Given the description of an element on the screen output the (x, y) to click on. 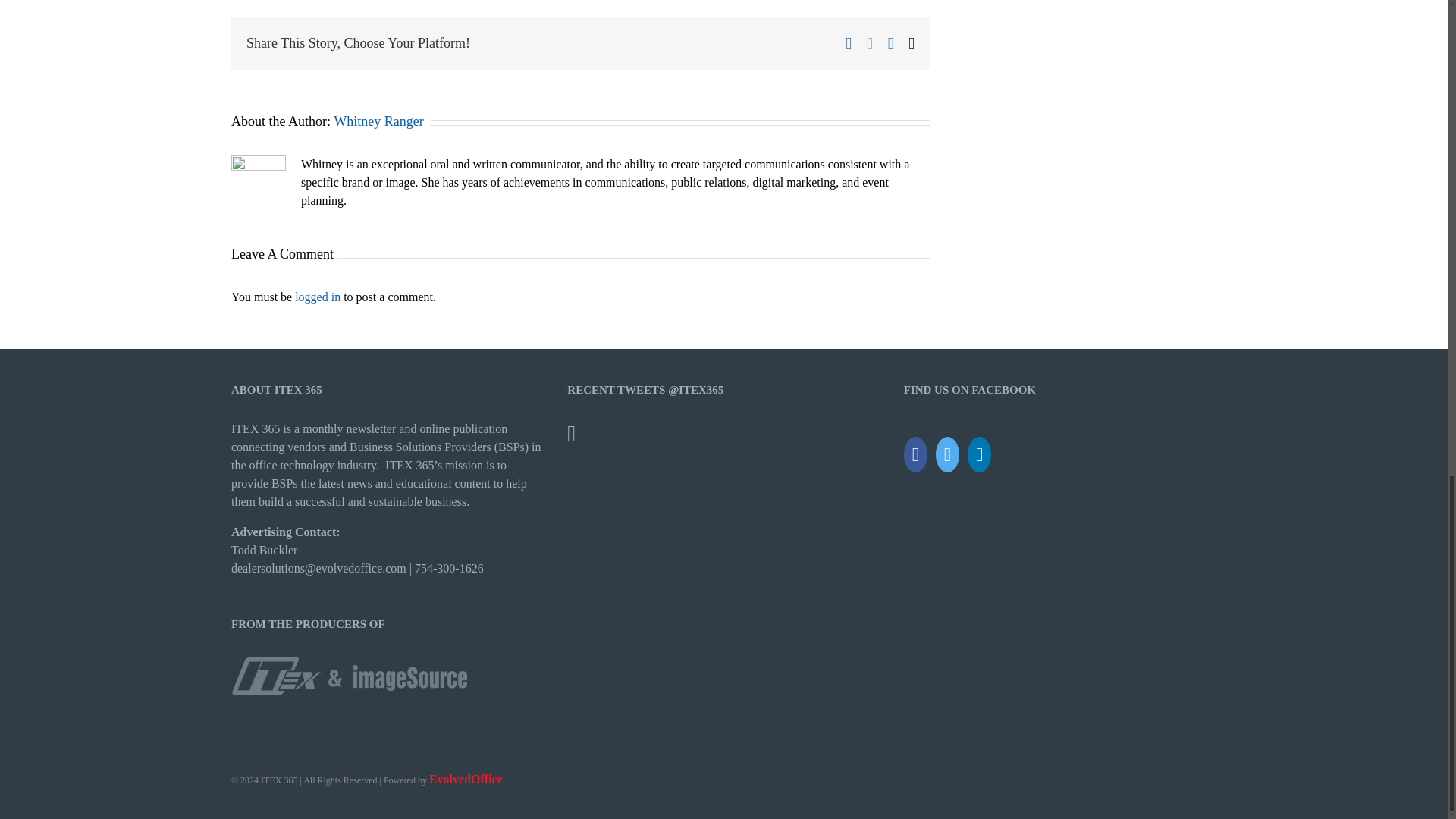
Screen-Shot-2017-03-21-at-3.01.02-PM (350, 675)
Posts by Whitney Ranger (378, 120)
Whitney Ranger (378, 120)
